Given the description of an element on the screen output the (x, y) to click on. 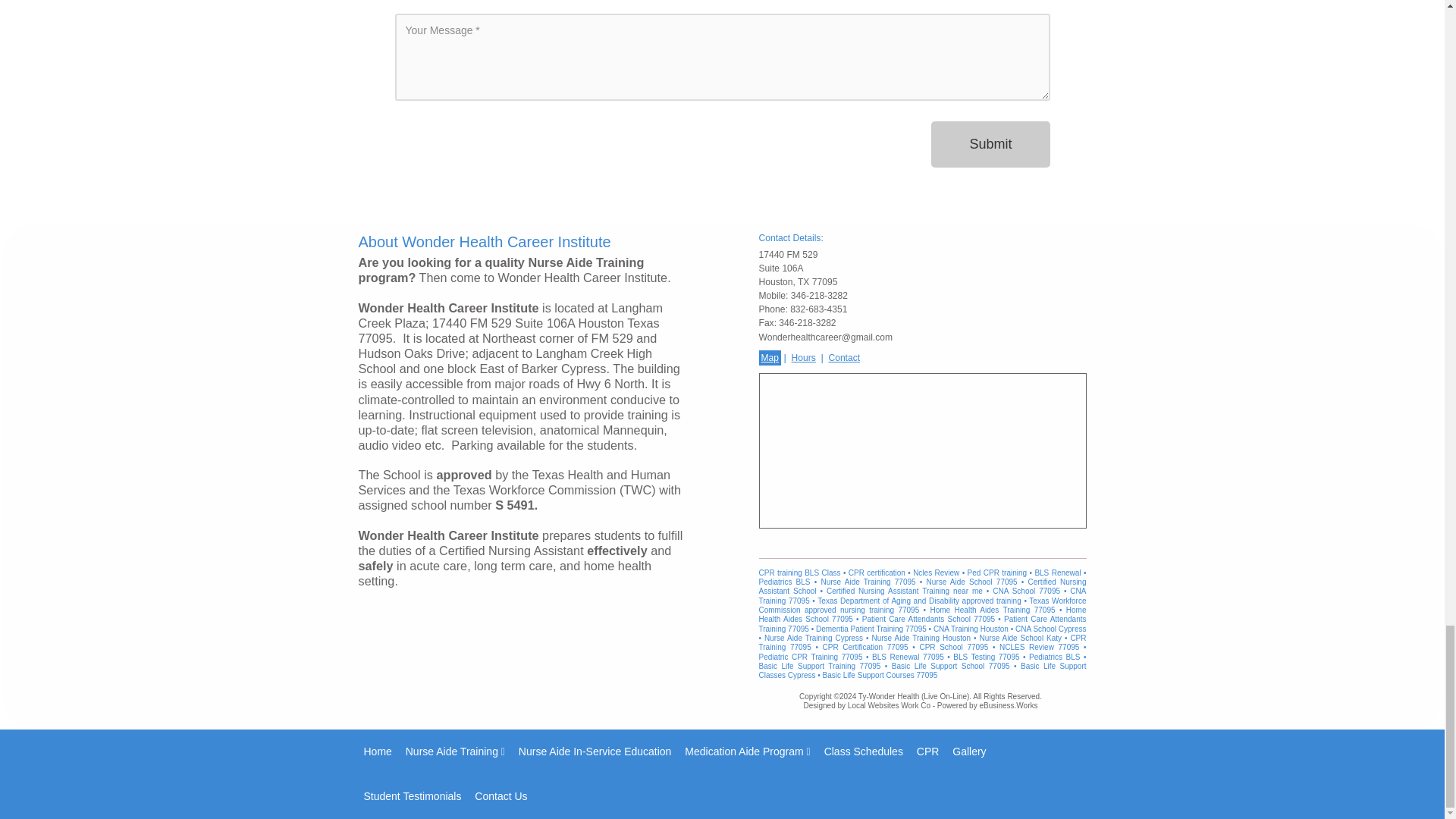
Class Schedules (863, 751)
346-218-3282 (818, 295)
Nurse Aide In-Service Education (594, 751)
Contact (843, 357)
Map (769, 357)
Medication Aide Program (746, 751)
Submit (990, 144)
832-683-4351 (818, 308)
Submit (990, 144)
Nurse Aide Training (455, 751)
